Given the description of an element on the screen output the (x, y) to click on. 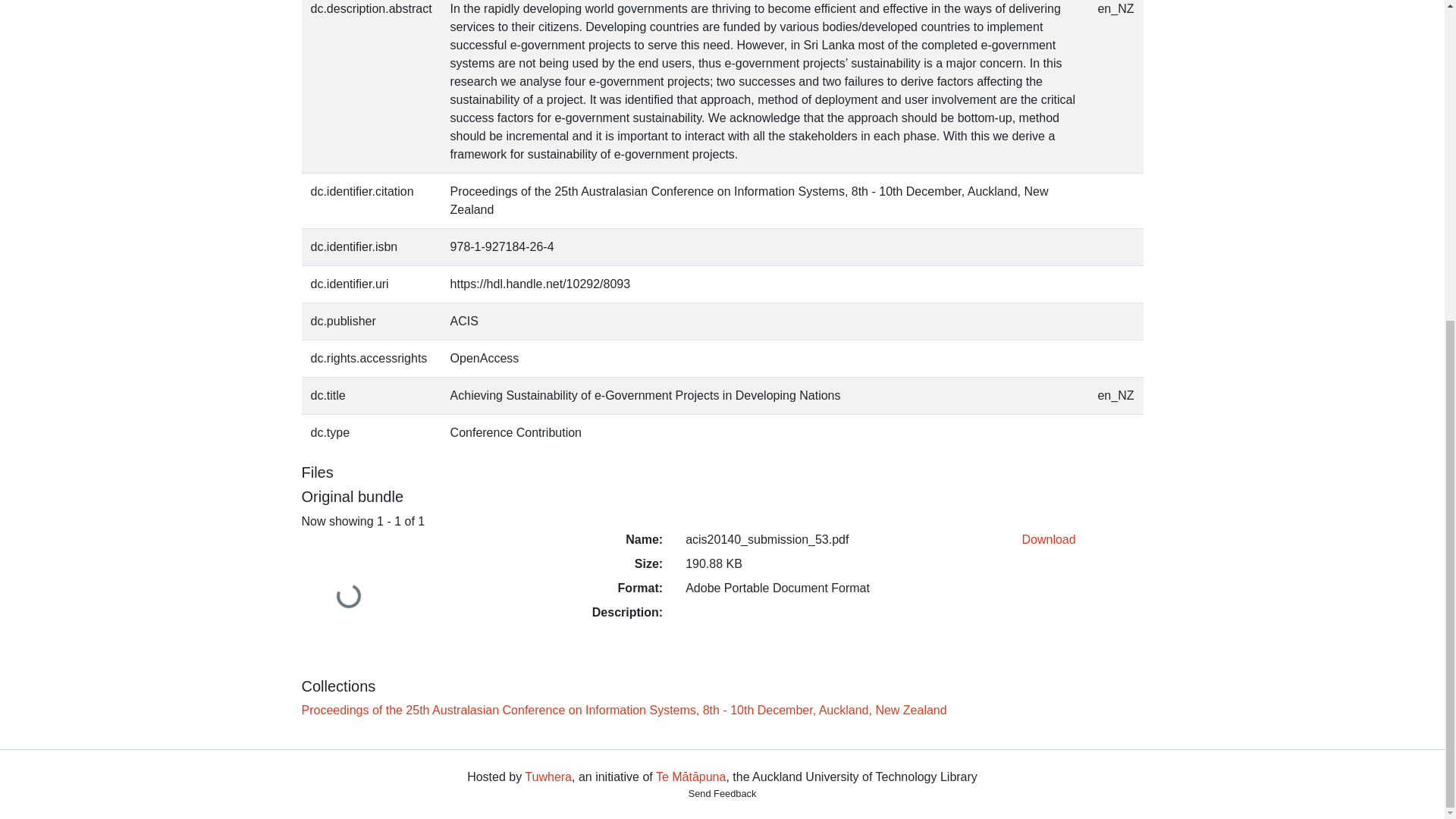
Send Feedback (722, 793)
Tuwhera (548, 776)
Download (1048, 539)
